Given the description of an element on the screen output the (x, y) to click on. 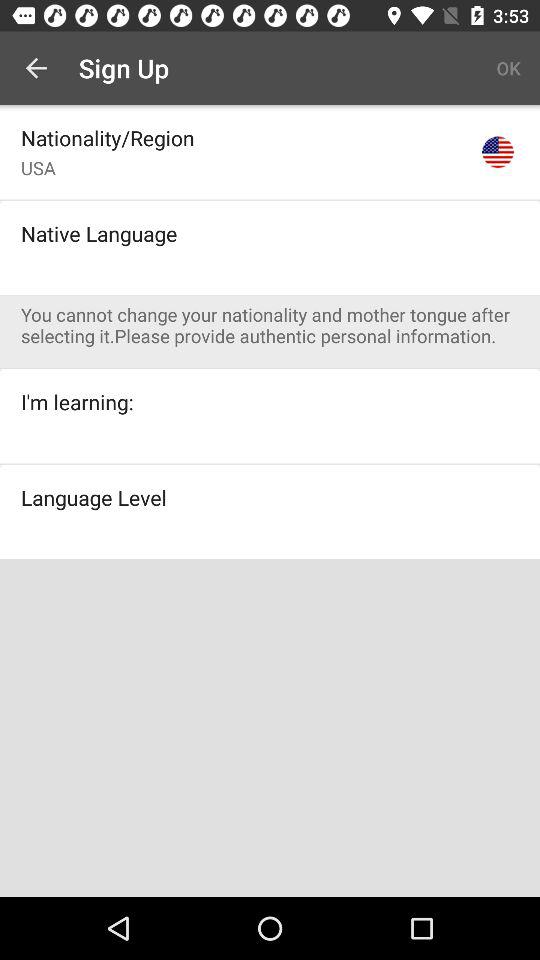
turn off the item below language level icon (270, 559)
